Given the description of an element on the screen output the (x, y) to click on. 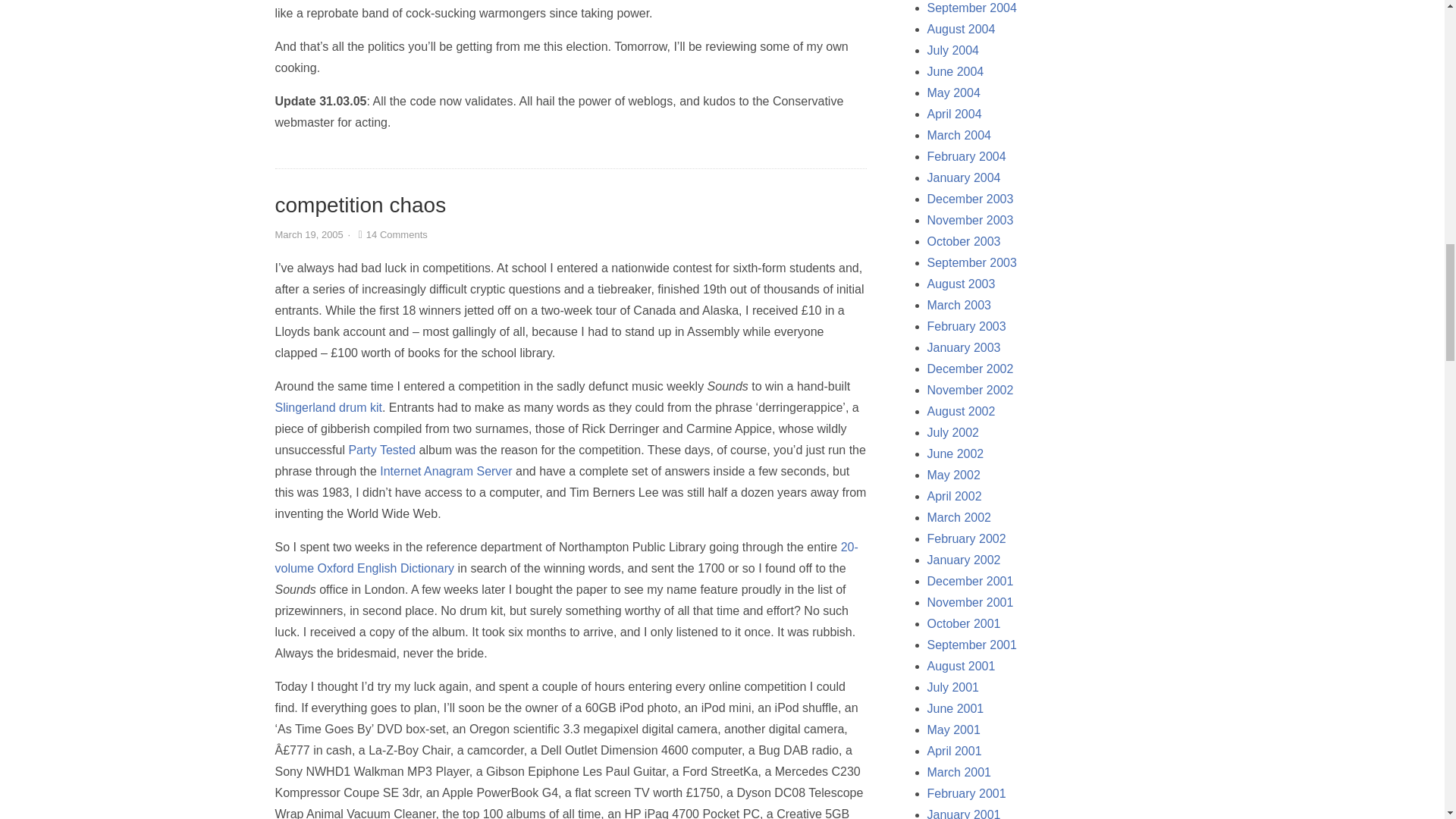
competition chaos (360, 205)
Party Tested (380, 449)
14 Comments (391, 234)
Permanent Link to competition chaos (360, 205)
20-volume Oxford English Dictionary (566, 557)
Internet Anagram Server (446, 471)
Slingerland drum kit (328, 407)
